Given the description of an element on the screen output the (x, y) to click on. 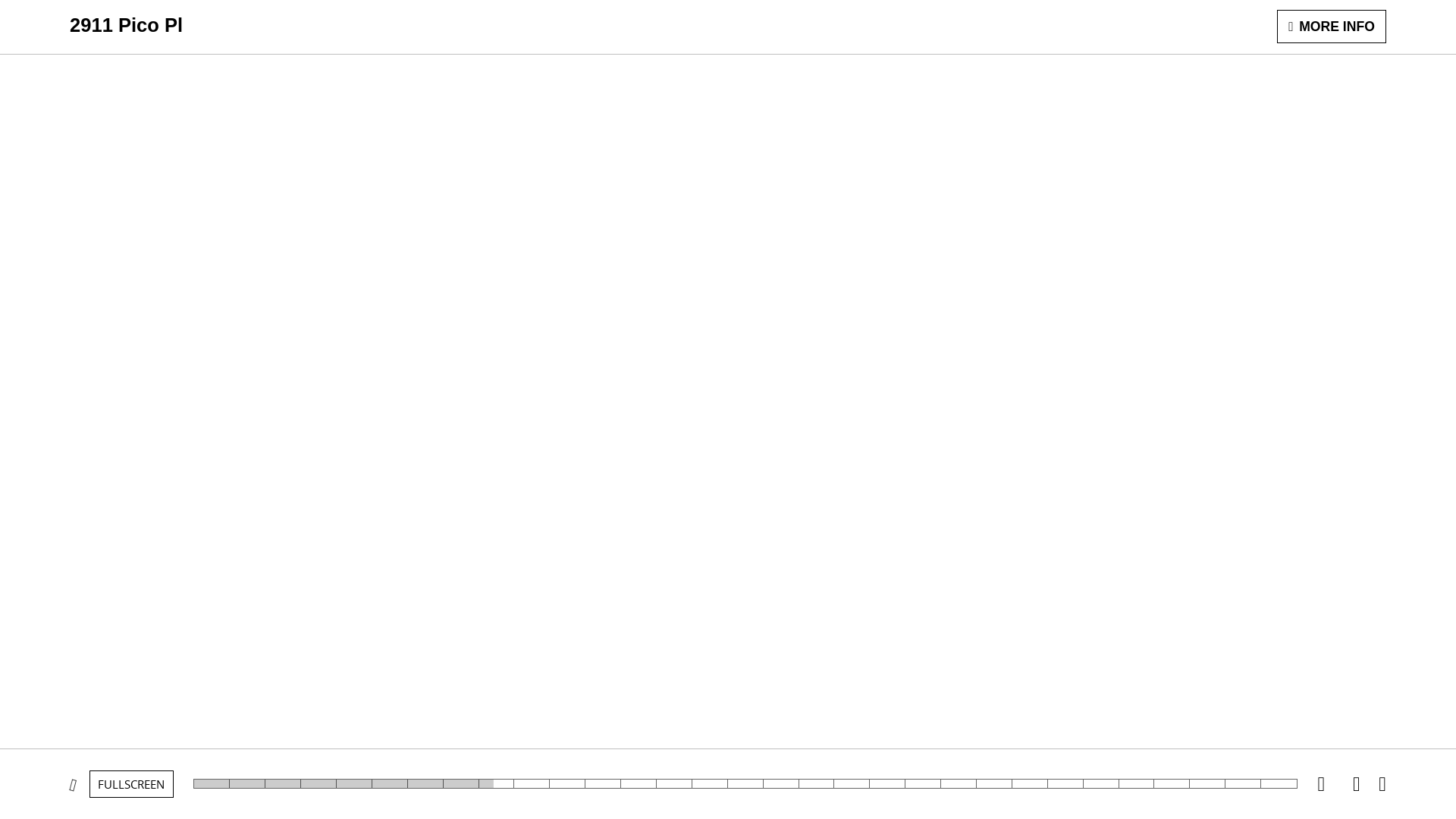
MORE INFO Element type: text (1331, 26)
